Given the description of an element on the screen output the (x, y) to click on. 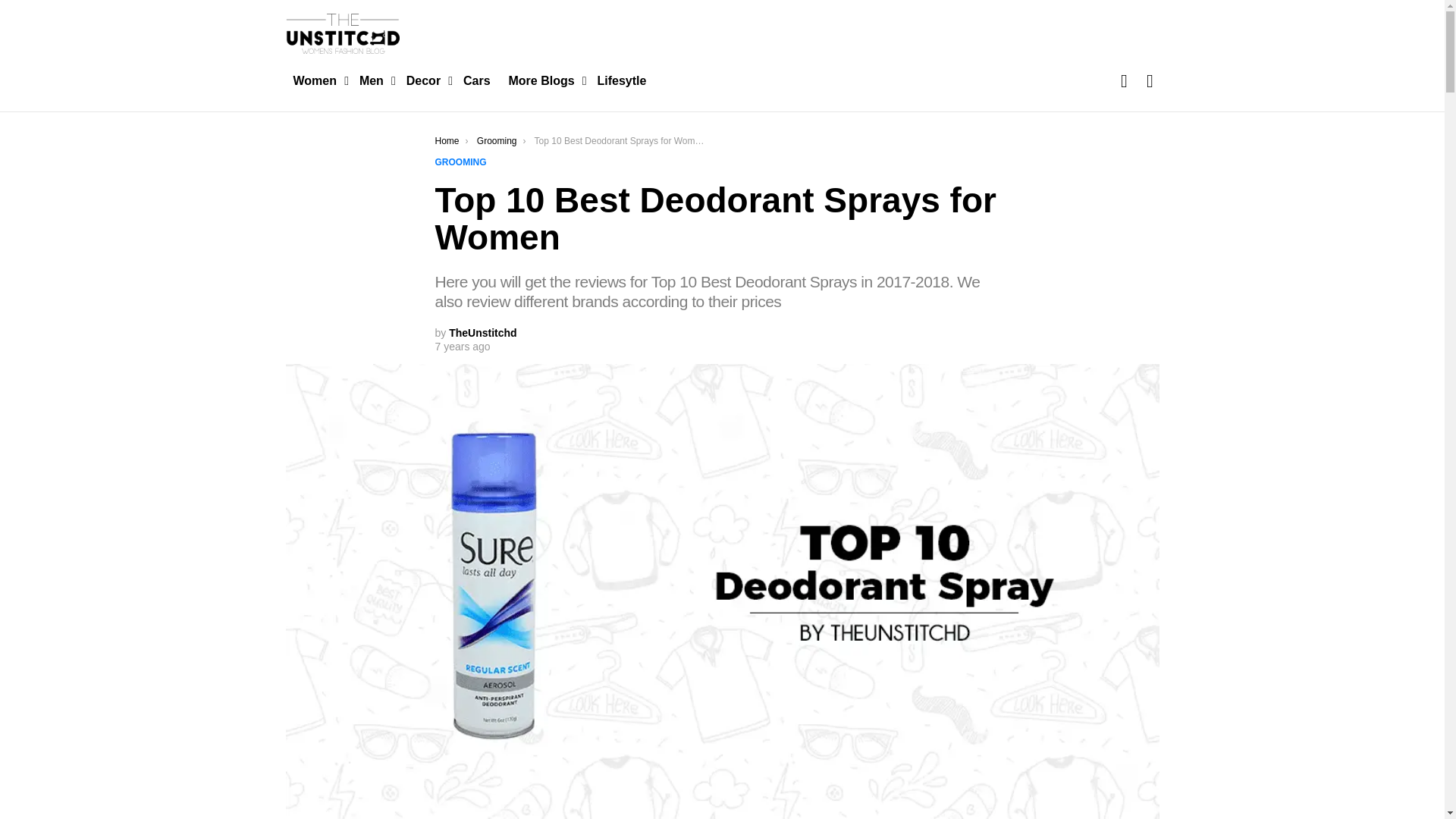
Mens Fashion Blog (374, 80)
Cars (476, 80)
Home (447, 140)
TheUnstitchd (482, 332)
Women (316, 80)
More Blogs (543, 80)
Decor (425, 80)
Lifesytle (621, 80)
Men (374, 80)
GROOMING (464, 161)
Posts by TheUnstitchd (482, 332)
Womens Fashion Blog in India (316, 80)
Grooming (496, 140)
October 31, 2017, 12:54 pm (462, 345)
